Given the description of an element on the screen output the (x, y) to click on. 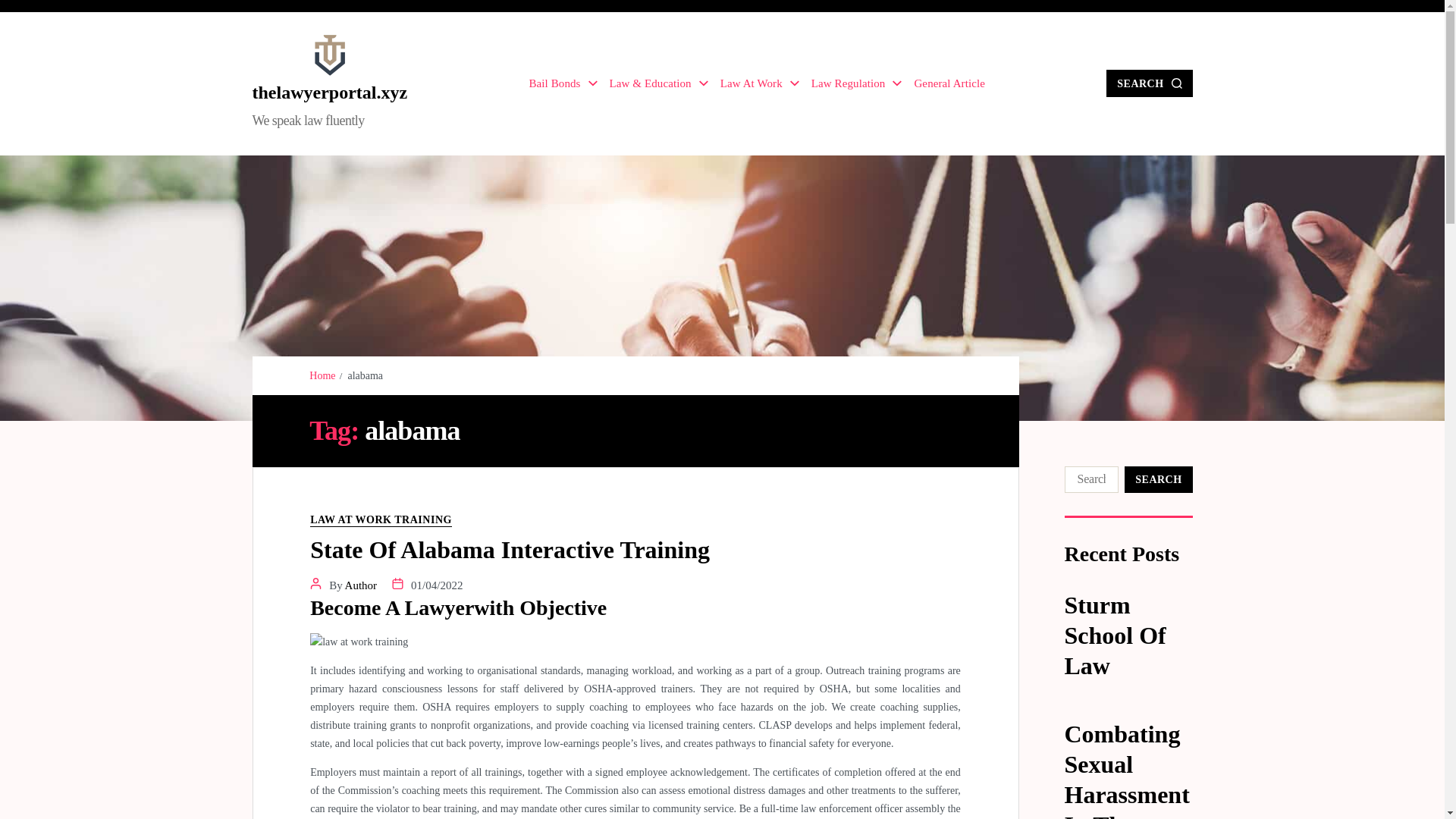
Search (1158, 479)
Law At Work (759, 83)
General Article (949, 83)
Search (1158, 479)
Bail Bonds (562, 83)
thelawyerportal.xyz (329, 92)
Law Regulation (856, 83)
SEARCH (1149, 83)
